Given the description of an element on the screen output the (x, y) to click on. 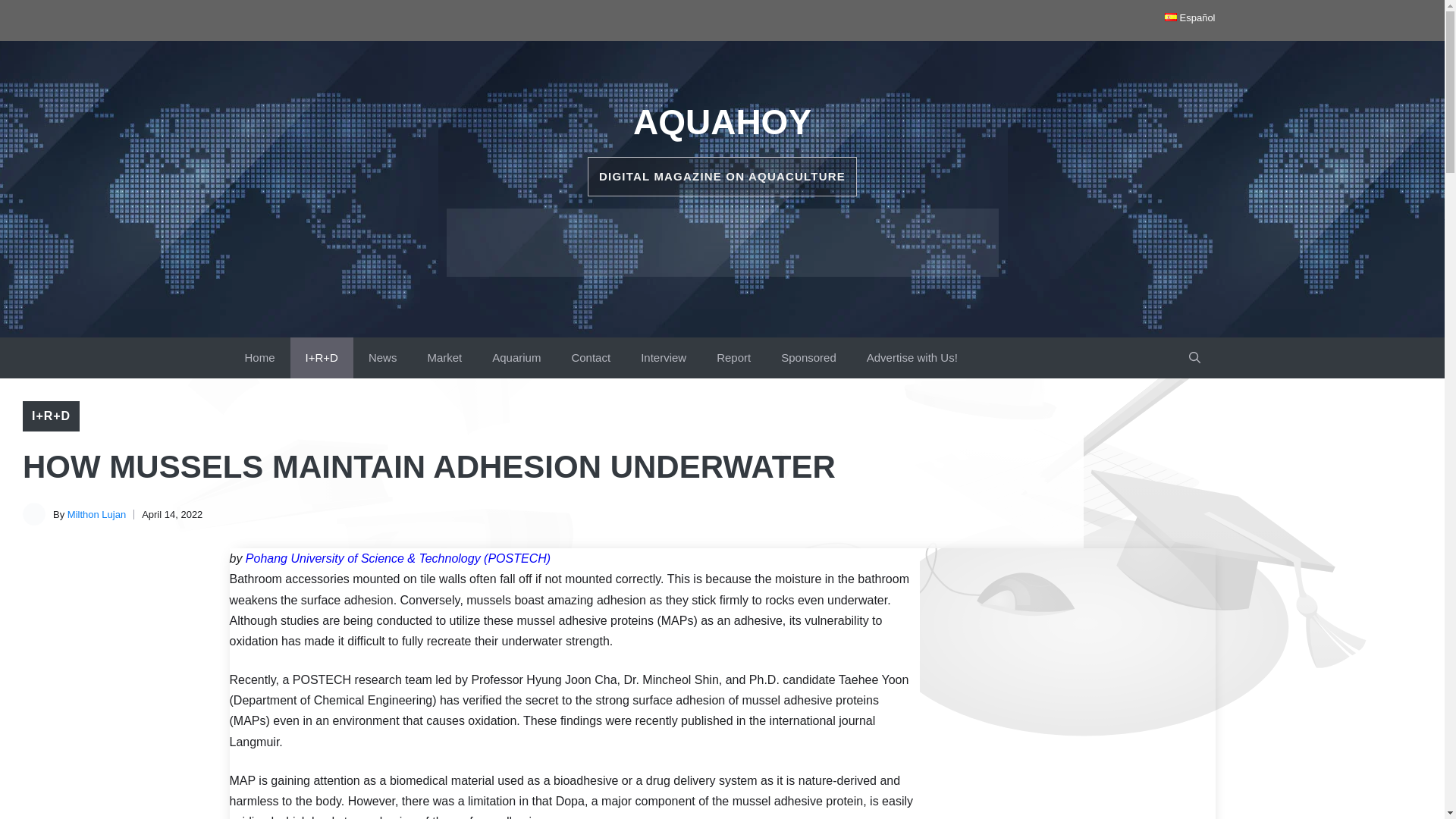
Interview (663, 357)
Market (444, 357)
Contact (591, 357)
Report (733, 357)
Milthon Lujan (95, 514)
AQUAHOY (721, 121)
News (382, 357)
Advertise with Us! (911, 357)
Home (258, 357)
Sponsored (808, 357)
Aquarium (516, 357)
